Given the description of an element on the screen output the (x, y) to click on. 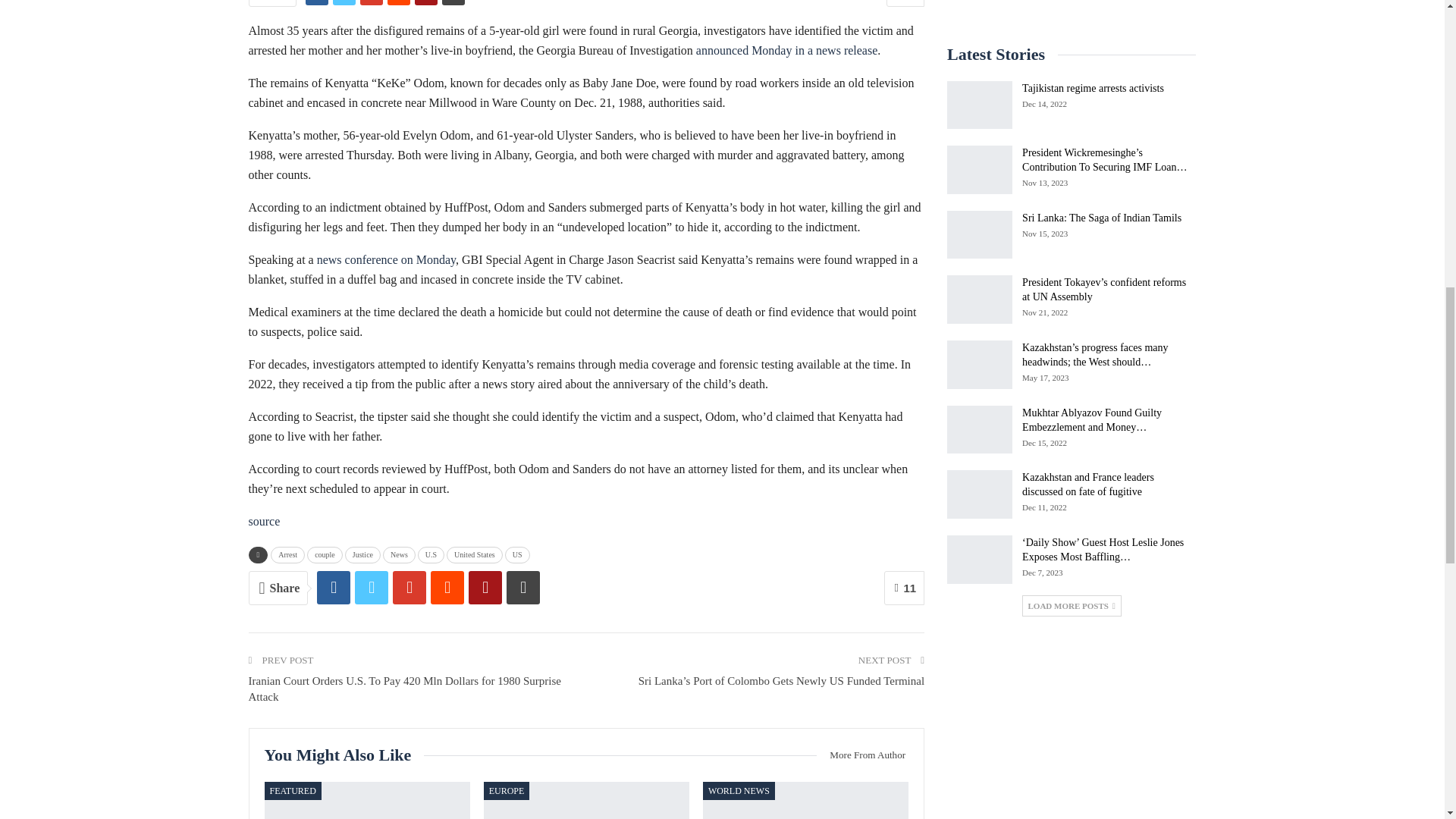
Sri Lanka: The Saga of Indian Tamils (979, 234)
One must not take Trump at his word, says Juncker (585, 800)
Tajikistan regime arrests activists (979, 105)
FBI: The shooting was an assassination attempt against Trump (365, 800)
